Given the description of an element on the screen output the (x, y) to click on. 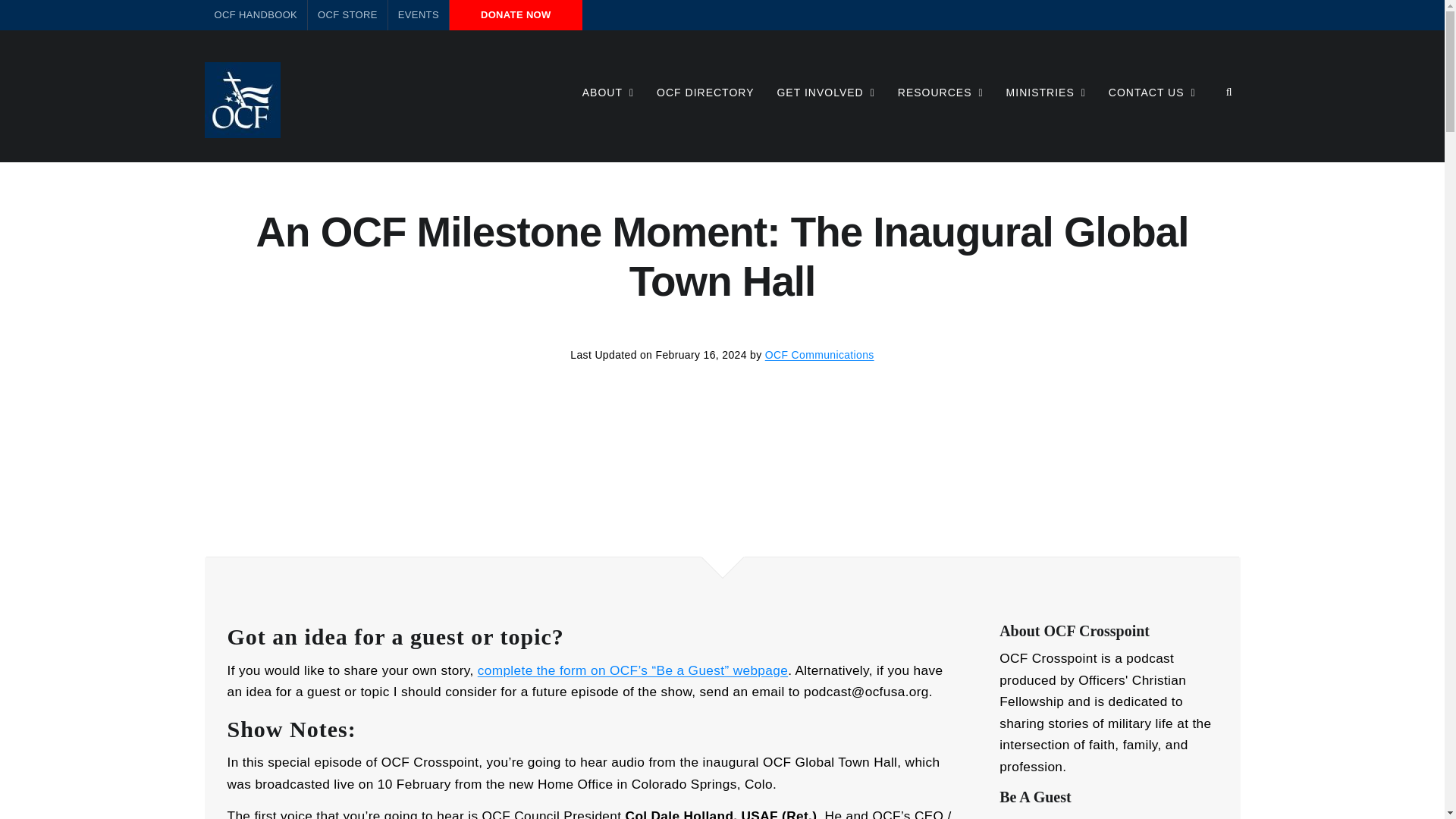
Embed Player (722, 445)
OCF STORE (347, 15)
EVENTS (418, 15)
DONATE NOW (515, 15)
OCF DIRECTORY (705, 90)
MINISTRIES (1046, 90)
GET INVOLVED (825, 90)
RESOURCES (941, 90)
OCF HANDBOOK (256, 15)
